Given the description of an element on the screen output the (x, y) to click on. 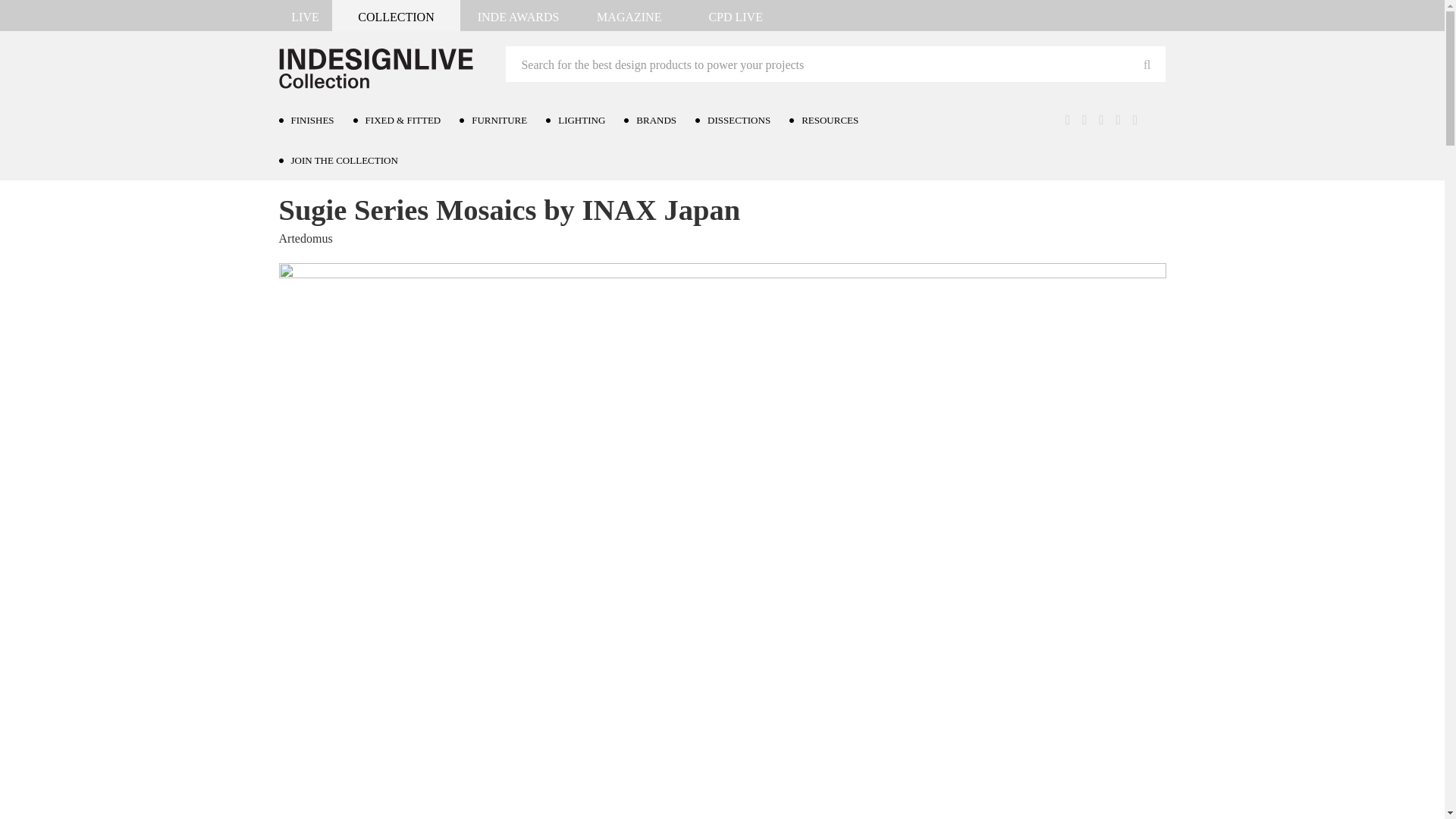
LIGHTING (585, 119)
Home (293, 169)
Finishes (337, 169)
FURNITURE (503, 119)
RESOURCES (833, 119)
FINISHES (316, 119)
DISSECTIONS (742, 119)
BRANDS (659, 119)
JOIN THE COLLECTION (347, 160)
